Given the description of an element on the screen output the (x, y) to click on. 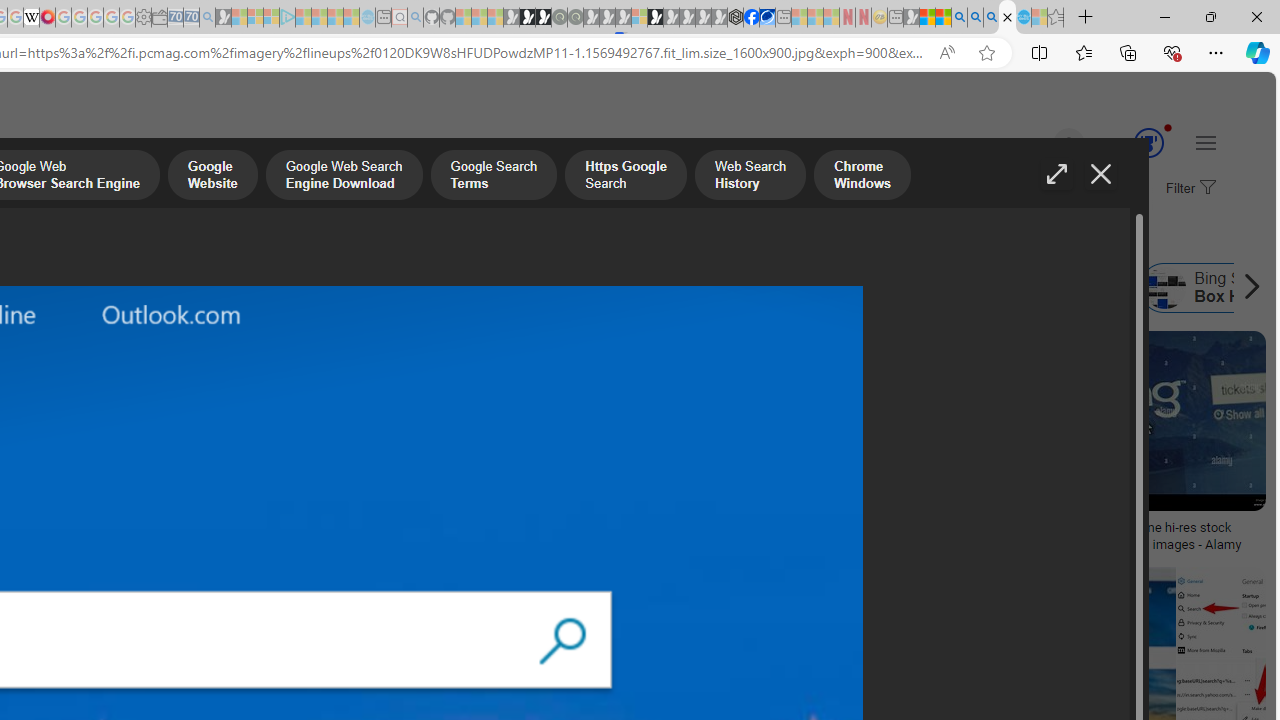
Nordace - Cooler Bags (735, 17)
Bing Search Engine Homepage (740, 287)
Google Web Search Engine Download (343, 177)
Nordace | Facebook (751, 17)
T-Shirts (132, 400)
Https Google Search (625, 177)
Close image (1100, 173)
Who Made Bing Search Engine (516, 287)
